Given the description of an element on the screen output the (x, y) to click on. 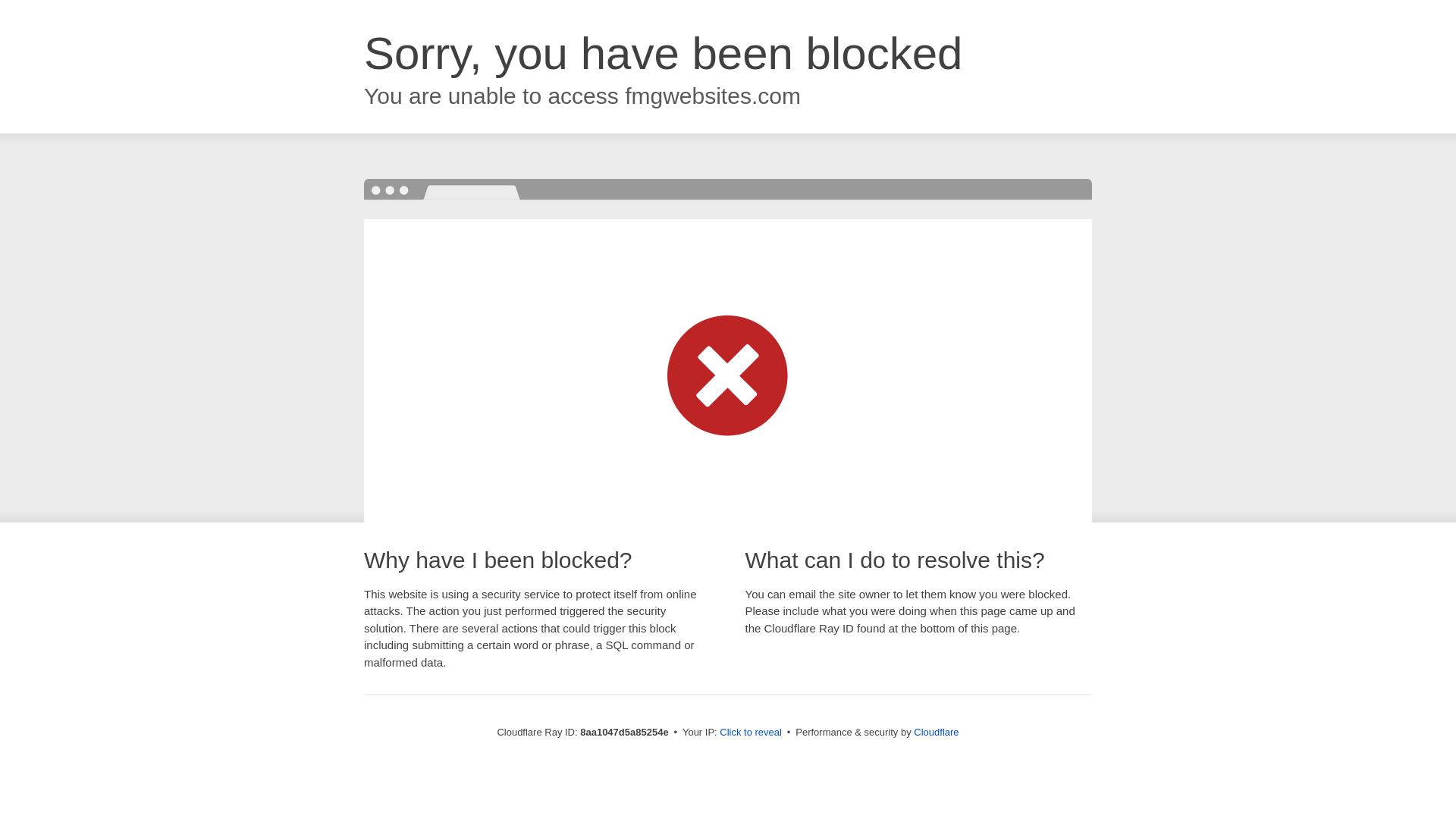
Cloudflare (936, 731)
Click to reveal (750, 732)
